Given the description of an element on the screen output the (x, y) to click on. 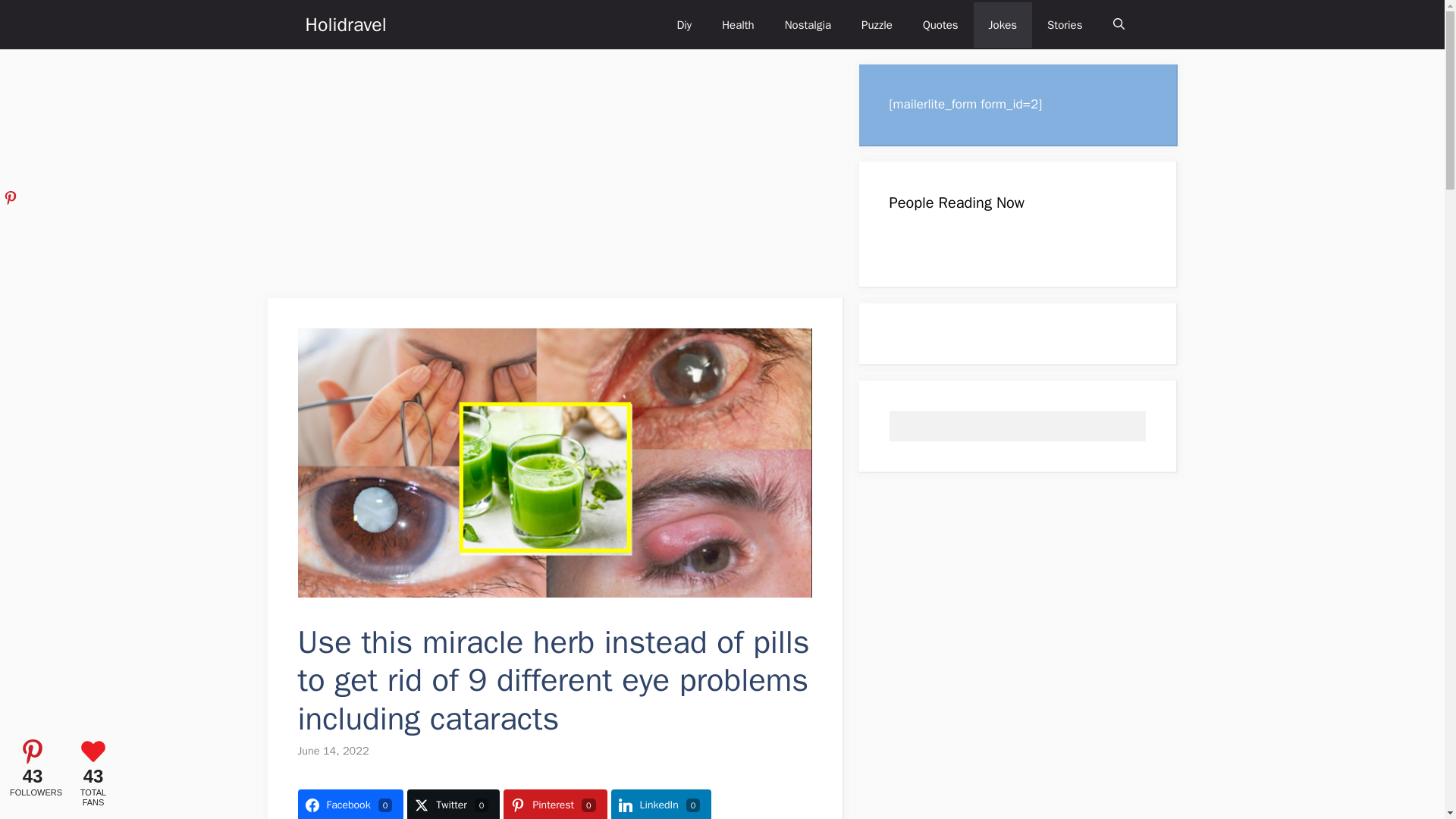
Jokes (1003, 23)
Diy (683, 23)
Share on Pinterest (555, 804)
Quotes (940, 23)
Twitter0 (453, 804)
Share on Facebook (350, 804)
Nostalgia (807, 23)
Share on LinkedIn (661, 804)
Puzzle (876, 23)
Pinterest0 (555, 804)
Share on Twitter (453, 804)
Holidravel (344, 24)
Health (738, 23)
LinkedIn0 (661, 804)
Facebook0 (350, 804)
